Given the description of an element on the screen output the (x, y) to click on. 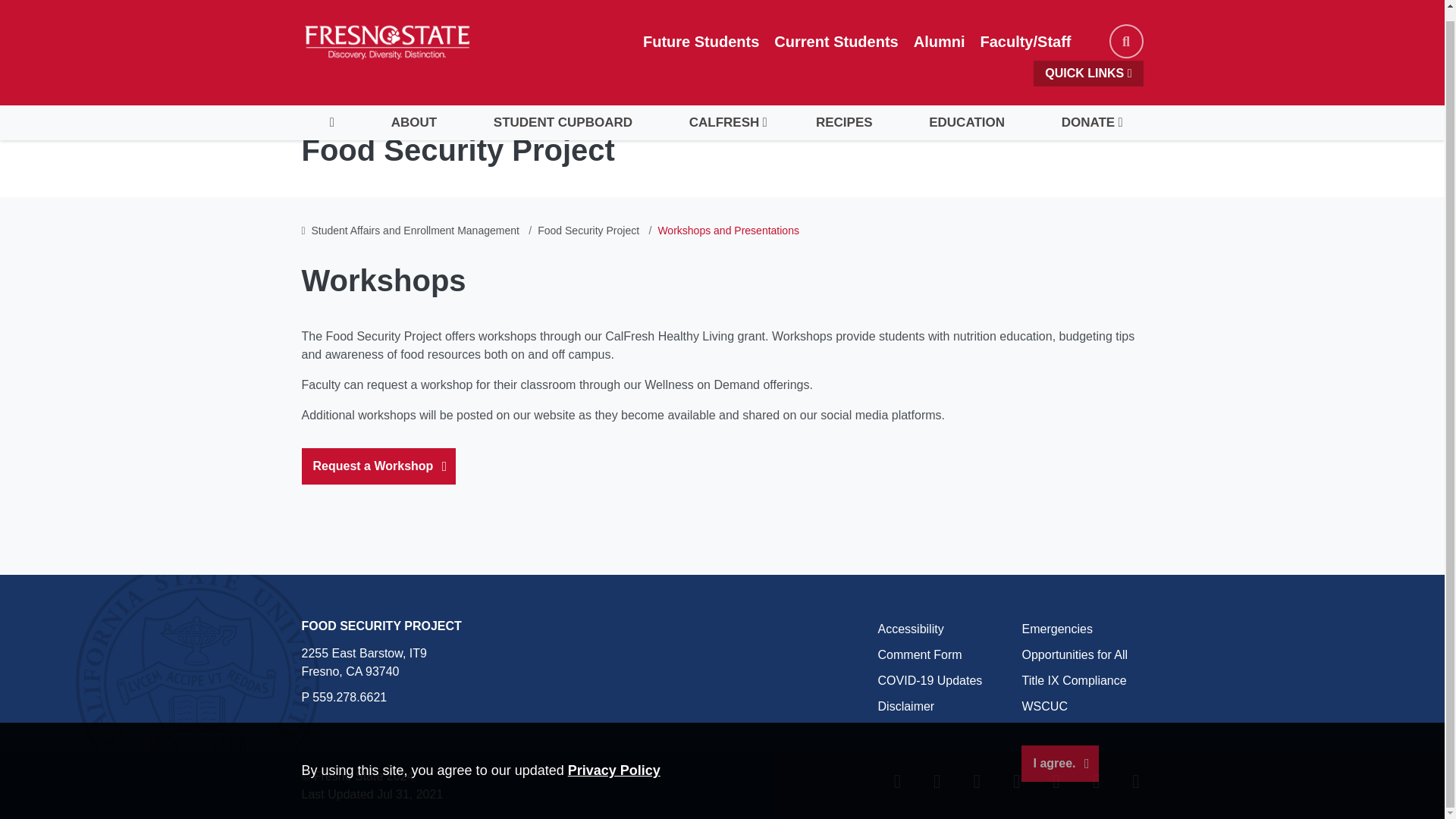
EDUCATION (966, 112)
Future Students (700, 30)
ABOUT (413, 112)
HOME (331, 112)
Food Security Project link in the footer section (381, 625)
I agree. (1059, 752)
Search (1125, 30)
CALFRESH (724, 112)
RECIPES (844, 112)
Current Students (836, 30)
QUICK LINKS (1087, 62)
Privacy Policy (614, 759)
STUDENT CUPBOARD (562, 112)
Alumni (938, 30)
DONATE (1087, 112)
